Given the description of an element on the screen output the (x, y) to click on. 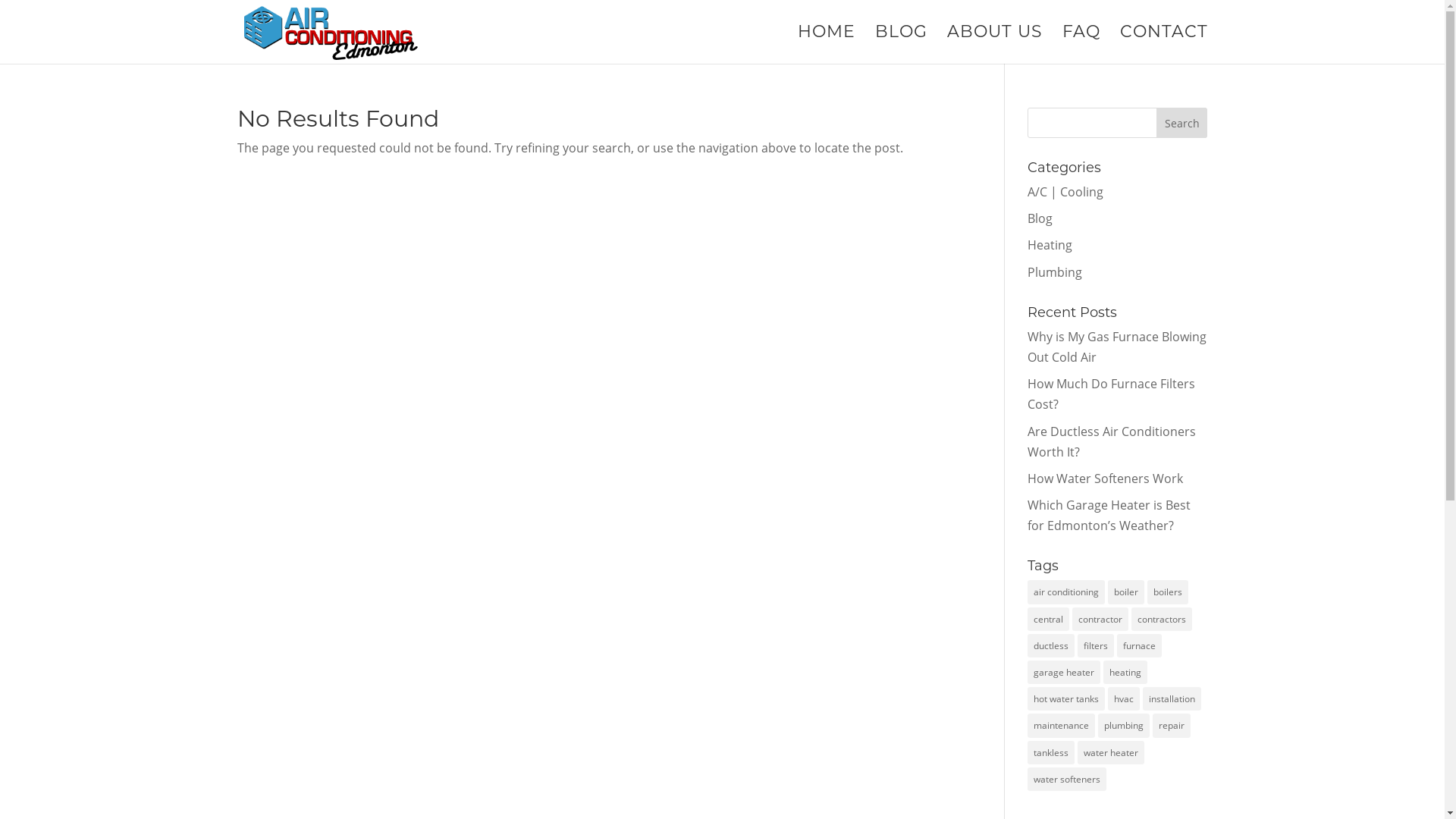
hot water tanks Element type: text (1065, 698)
Plumbing Element type: text (1054, 271)
Search Element type: text (1182, 122)
FAQ Element type: text (1080, 44)
plumbing Element type: text (1123, 725)
Heating Element type: text (1049, 244)
water heater Element type: text (1110, 752)
BLOG Element type: text (901, 44)
boiler Element type: text (1125, 591)
ABOUT US Element type: text (993, 44)
water softeners Element type: text (1066, 778)
boilers Element type: text (1167, 591)
heating Element type: text (1125, 672)
CONTACT Element type: text (1163, 44)
maintenance Element type: text (1061, 725)
central Element type: text (1048, 618)
furnace Element type: text (1139, 645)
HOME Element type: text (826, 44)
garage heater Element type: text (1063, 672)
How Much Do Furnace Filters Cost? Element type: text (1111, 393)
A/C | Cooling Element type: text (1065, 191)
contractors Element type: text (1161, 618)
Why is My Gas Furnace Blowing Out Cold Air Element type: text (1116, 346)
How Water Softeners Work Element type: text (1105, 478)
Are Ductless Air Conditioners Worth It? Element type: text (1111, 441)
Blog Element type: text (1039, 218)
tankless Element type: text (1050, 752)
air conditioning Element type: text (1065, 591)
contractor Element type: text (1100, 618)
hvac Element type: text (1123, 698)
ductless Element type: text (1050, 645)
installation Element type: text (1171, 698)
repair Element type: text (1171, 725)
filters Element type: text (1095, 645)
